Given the description of an element on the screen output the (x, y) to click on. 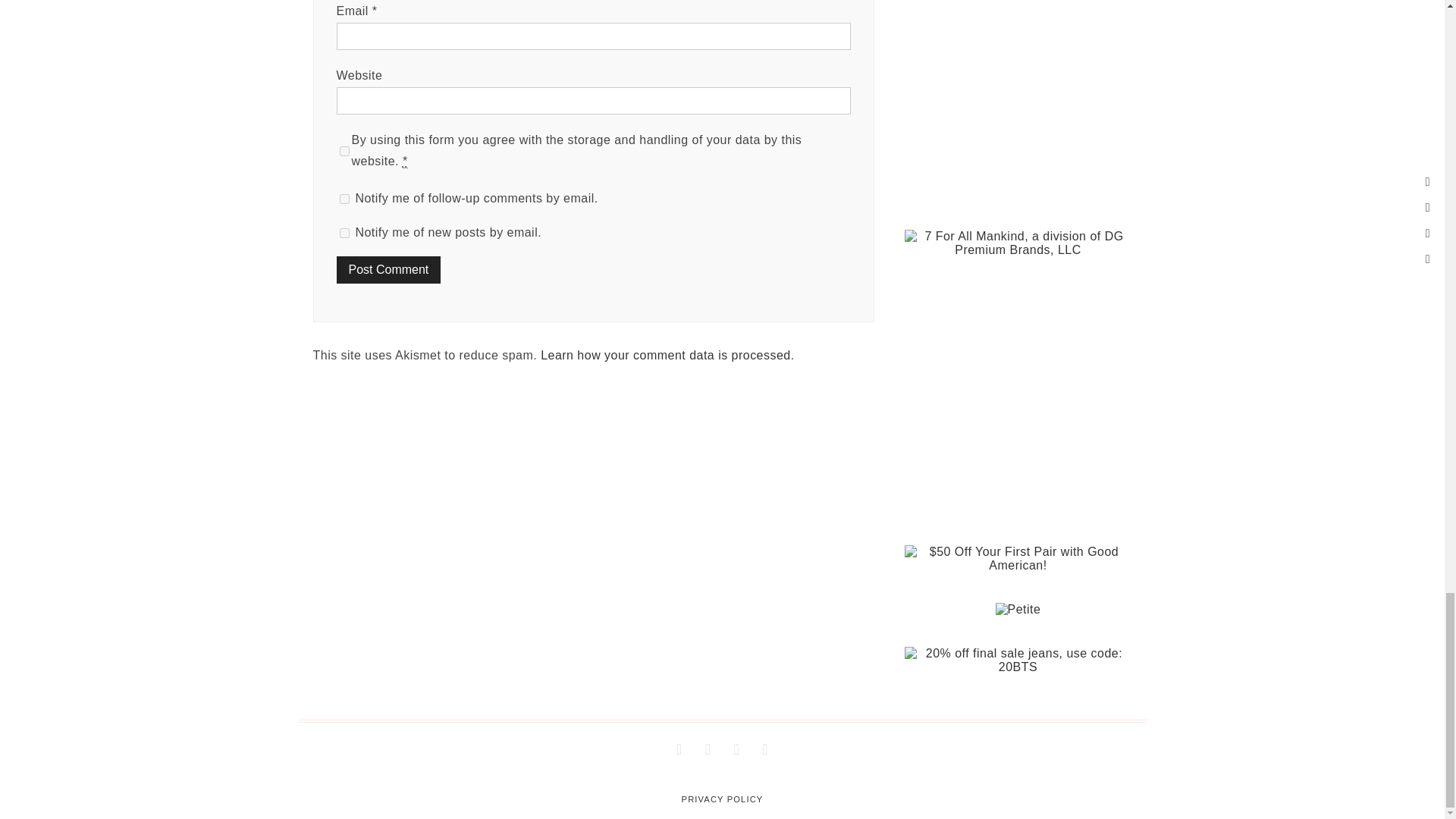
subscribe (344, 198)
subscribe (344, 233)
Post Comment (388, 269)
